Given the description of an element on the screen output the (x, y) to click on. 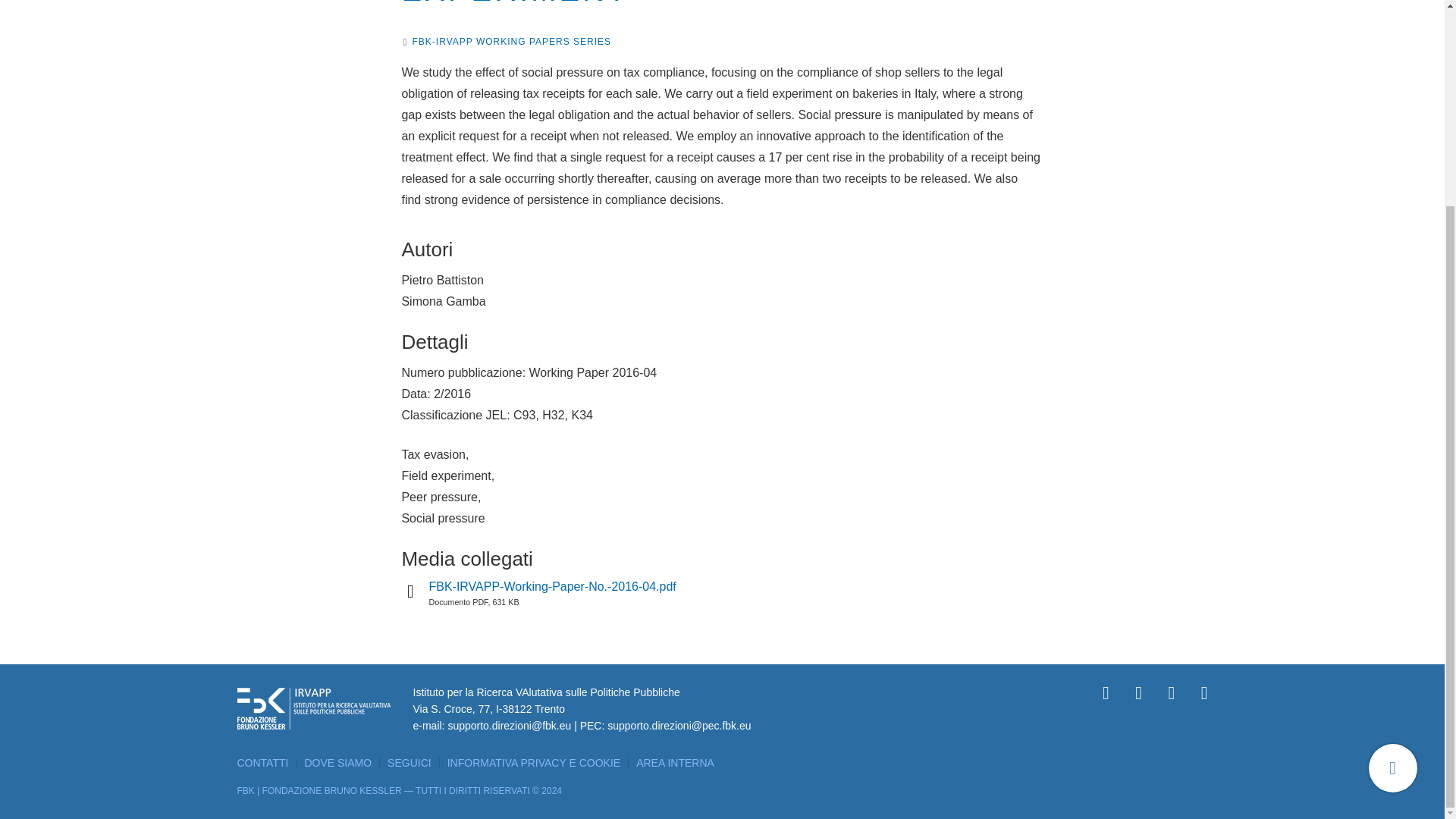
Condividi il link a questa pagina (1392, 502)
